Given the description of an element on the screen output the (x, y) to click on. 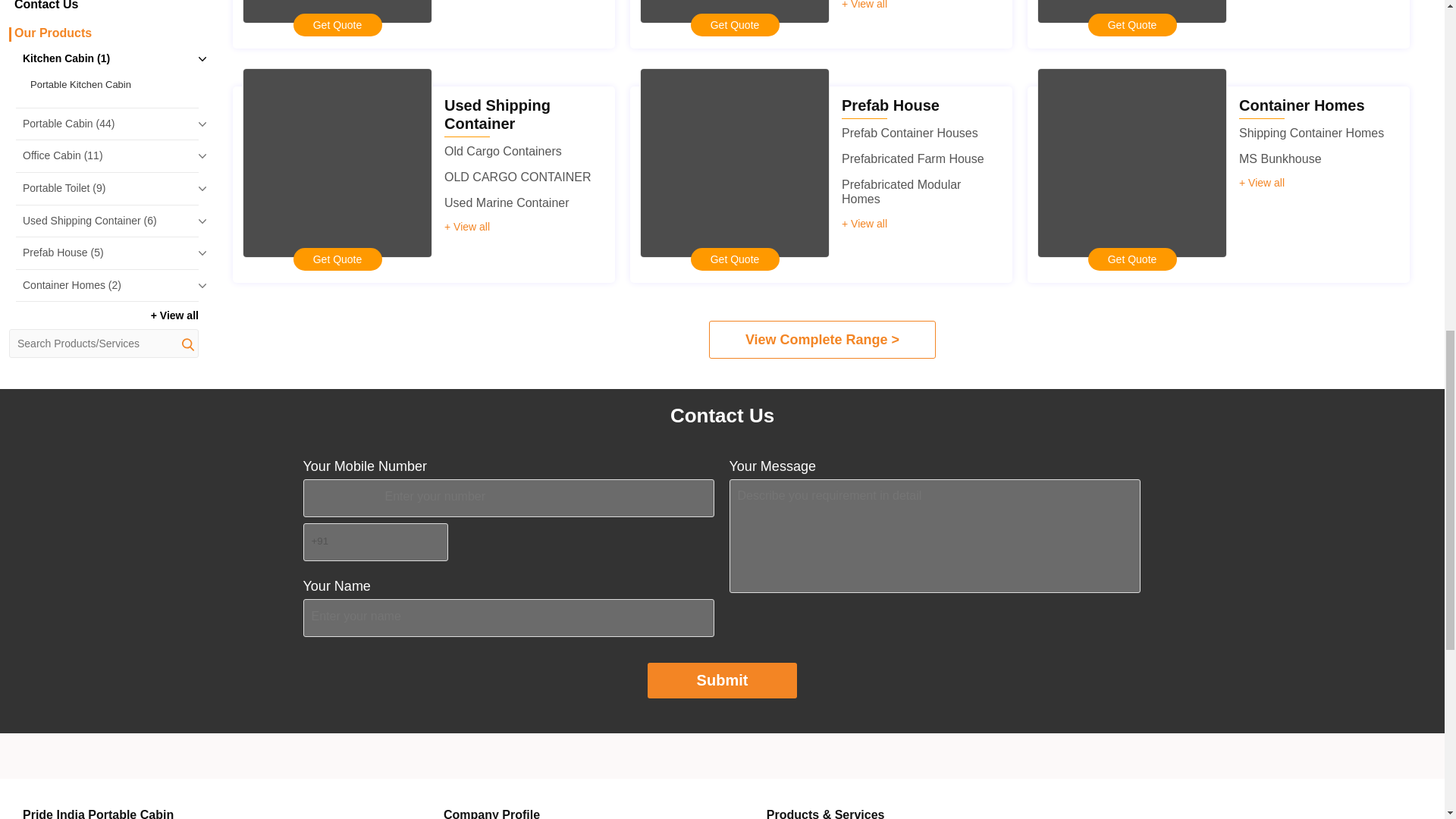
Submit (722, 680)
